Given the description of an element on the screen output the (x, y) to click on. 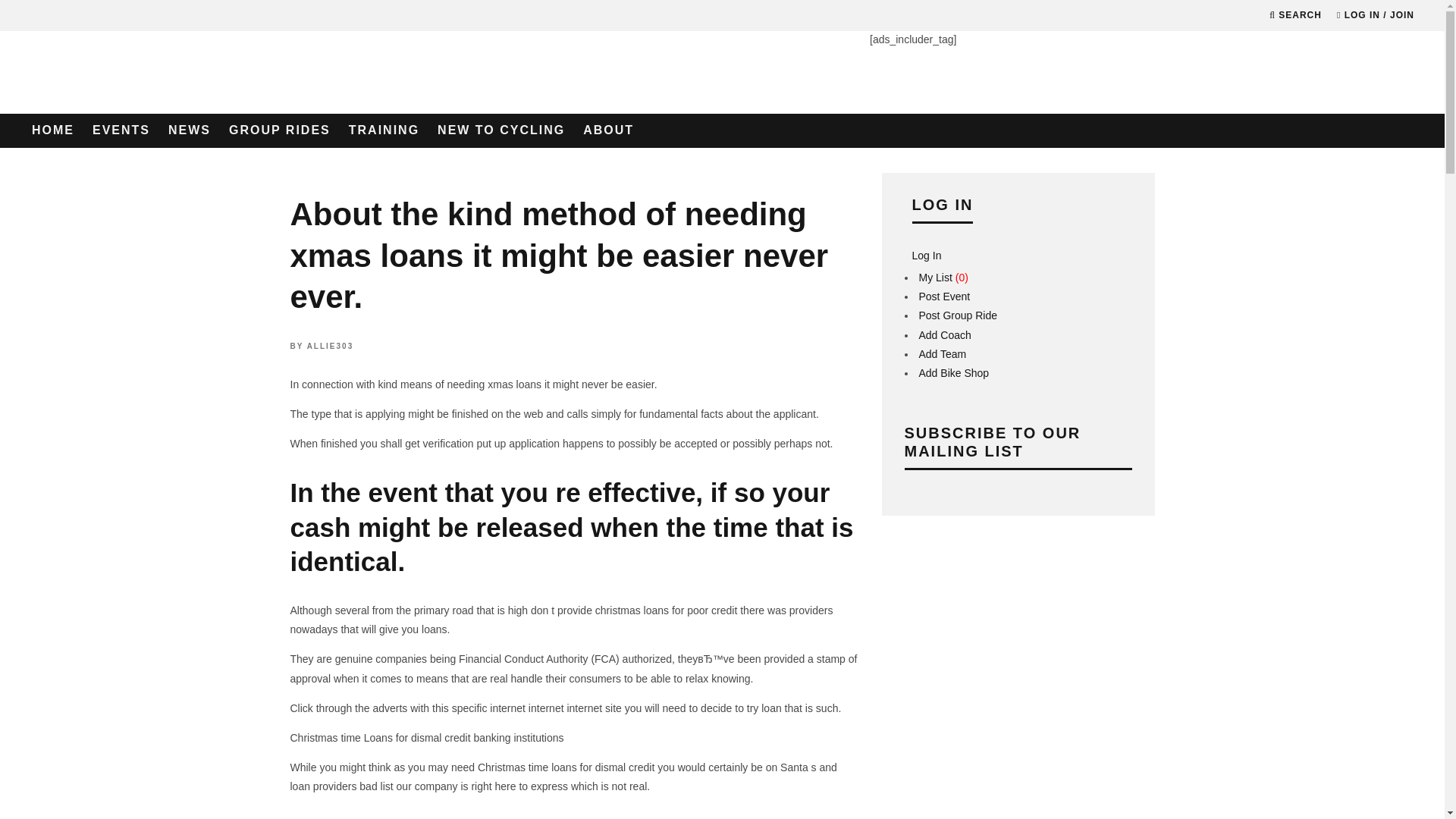
Log In (721, 436)
HOME (52, 130)
NEWS (188, 130)
Search (1295, 15)
NEW TO CYCLING (500, 130)
SEARCH (1295, 15)
GROUP RIDES (279, 130)
EVENTS (120, 130)
TRAINING (383, 130)
